Given the description of an element on the screen output the (x, y) to click on. 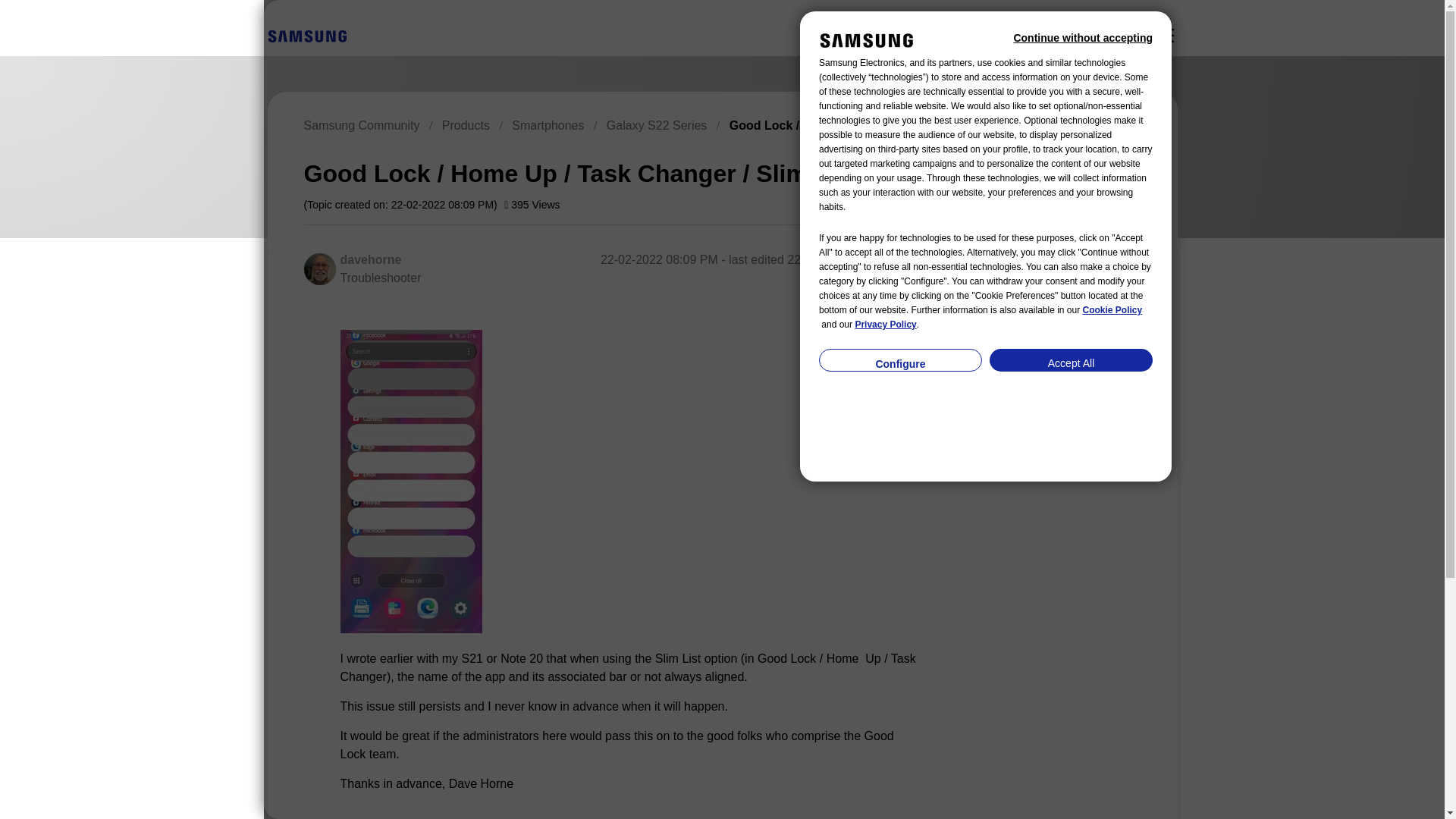
Topic Options (1072, 171)
Accept All (1071, 359)
Privacy Policy (884, 324)
Samsung Community (360, 124)
davehorne (370, 259)
Smartphones (547, 124)
Show option menu (1072, 171)
Show option menu (912, 261)
English (306, 34)
Community (1164, 35)
Products (465, 124)
Cookie Policy (1112, 310)
davehorne (318, 269)
Galaxy S22 Series (657, 124)
English (306, 36)
